Given the description of an element on the screen output the (x, y) to click on. 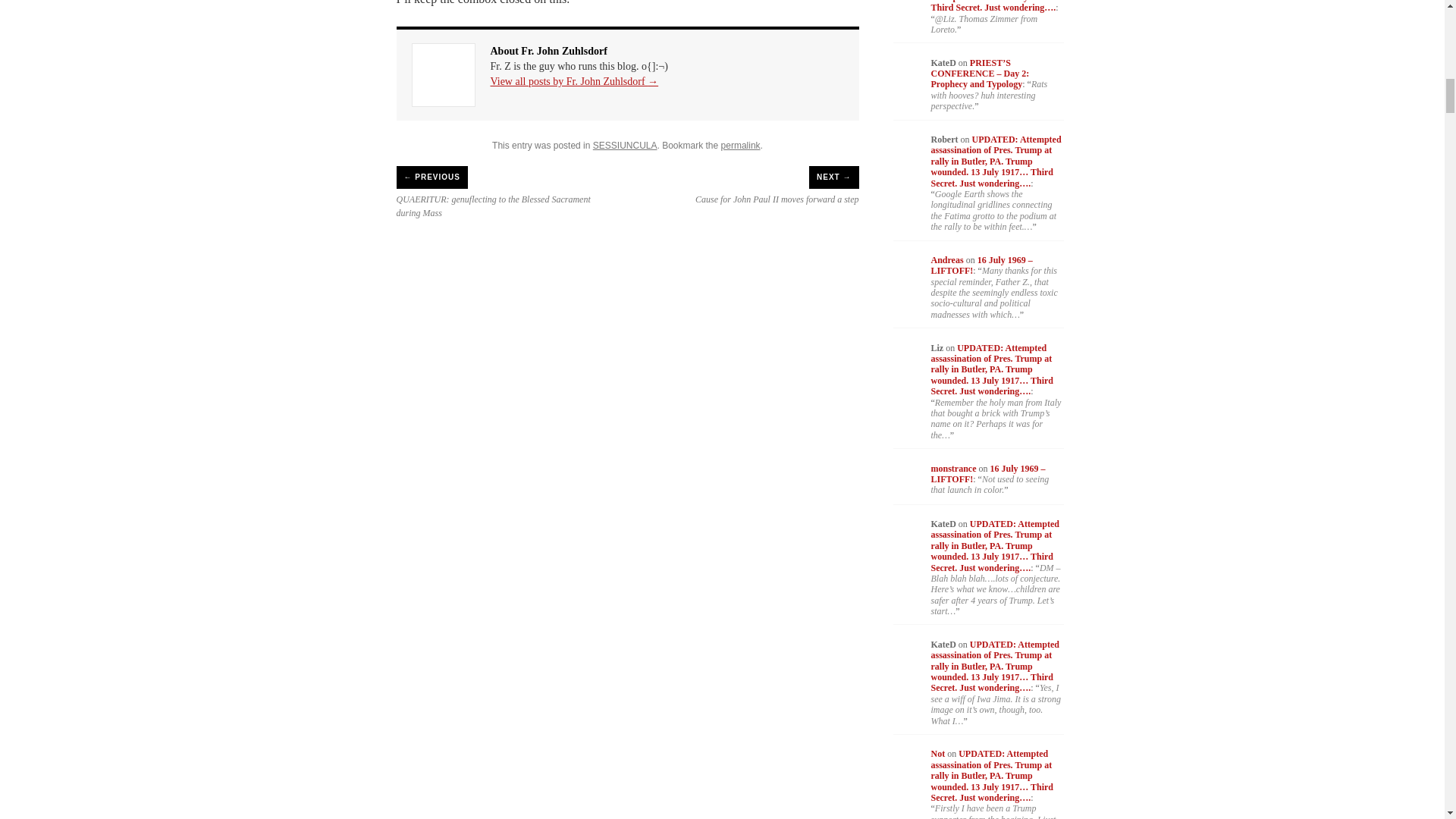
Permalink to Bishop in Uruguay resigned due to misconduct (740, 145)
